Given the description of an element on the screen output the (x, y) to click on. 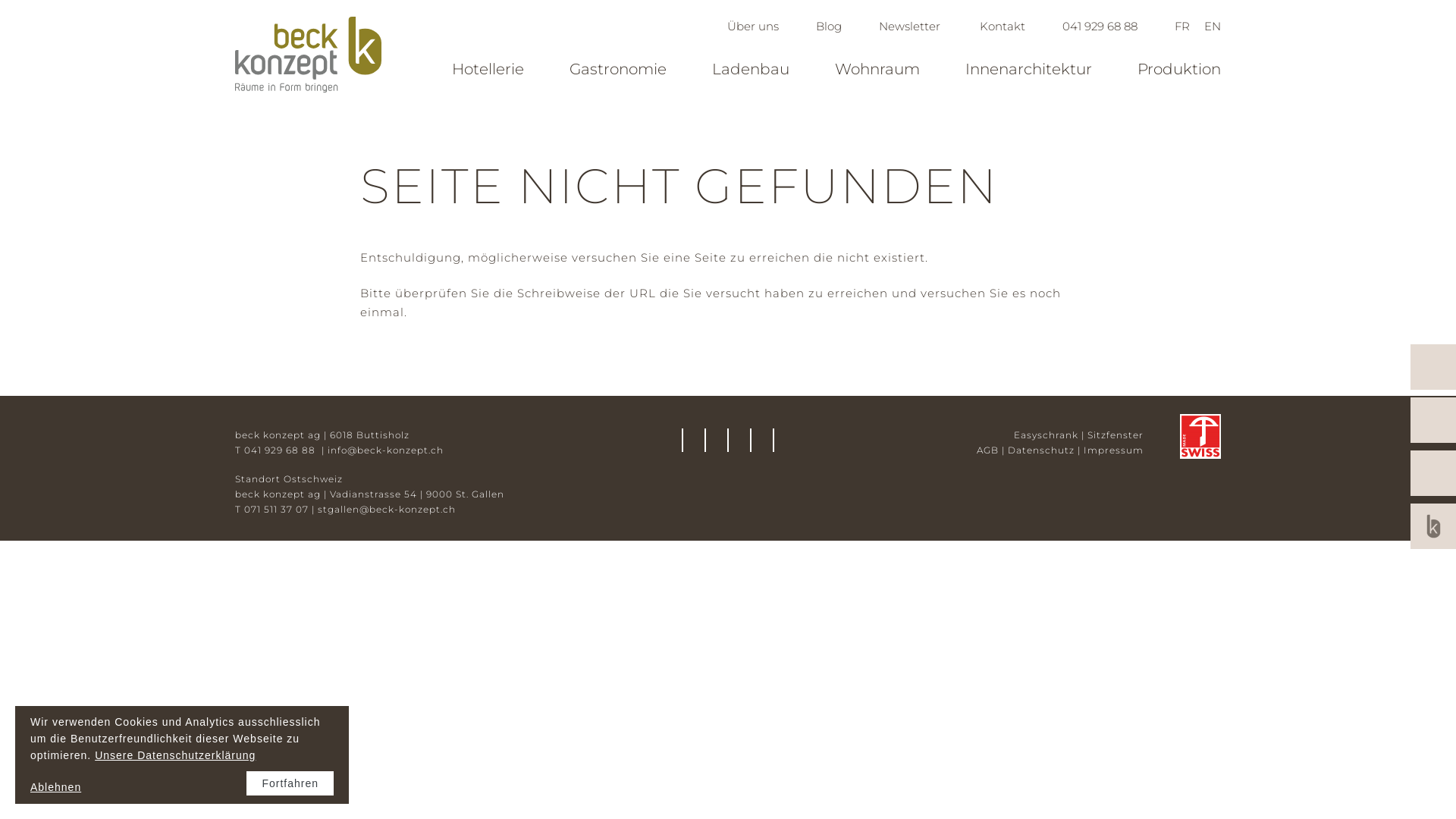
Sitzfenster Element type: text (1115, 434)
info@beck-konzept.ch Element type: text (385, 449)
Blog Element type: text (828, 25)
Produktion Element type: text (1178, 68)
EN Element type: text (1212, 25)
Instagram Element type: hover (750, 442)
Wohnraum Element type: text (876, 68)
Hotellerie Element type: text (487, 68)
T 041 929 68 88  Element type: text (276, 449)
Easyschrank Element type: text (1045, 434)
Impressum Element type: text (1113, 449)
Xing Element type: hover (682, 442)
Innenarchitektur Element type: text (1028, 68)
Pinterest Element type: hover (773, 442)
FR Element type: text (1181, 25)
Newsletter Element type: text (909, 25)
T 071 511 37 07 Element type: text (271, 508)
Datenschutz Element type: text (1040, 449)
Ladenbau Element type: text (750, 68)
stgallen@beck-konzept.ch Element type: text (386, 508)
Facebook Element type: hover (705, 442)
LinkedIn Element type: hover (727, 442)
AGB Element type: text (987, 449)
041 929 68 88 Element type: text (1099, 25)
Kontakt Element type: text (1001, 25)
Gastronomie Element type: text (617, 68)
